Given the description of an element on the screen output the (x, y) to click on. 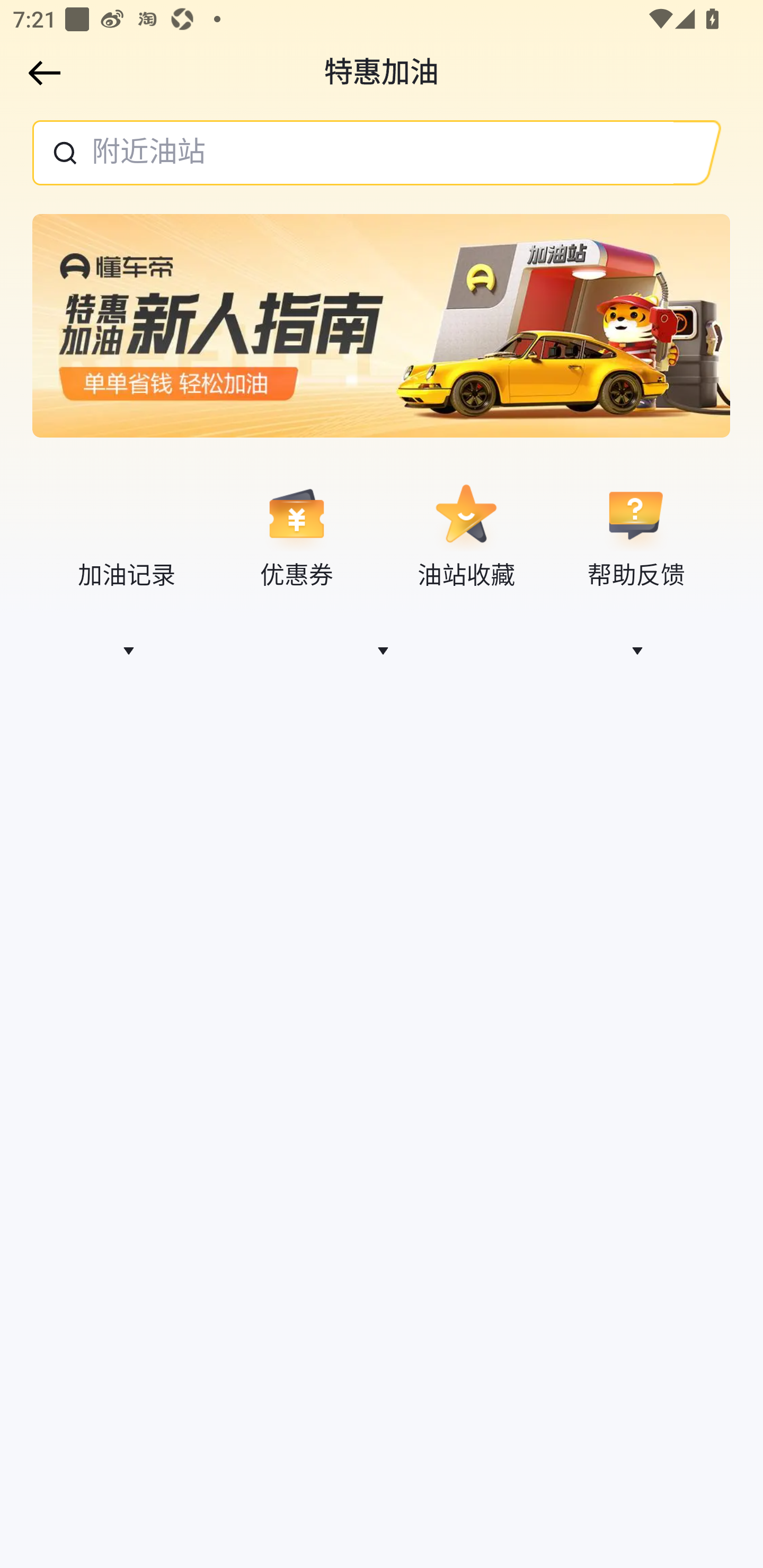
 (41, 72)
特惠加油 (381, 72)
附近油站 (352, 152)
加油记录 (127, 535)
优惠券 (296, 535)
油站收藏 (466, 535)
帮助反馈 (635, 535)
